Given the description of an element on the screen output the (x, y) to click on. 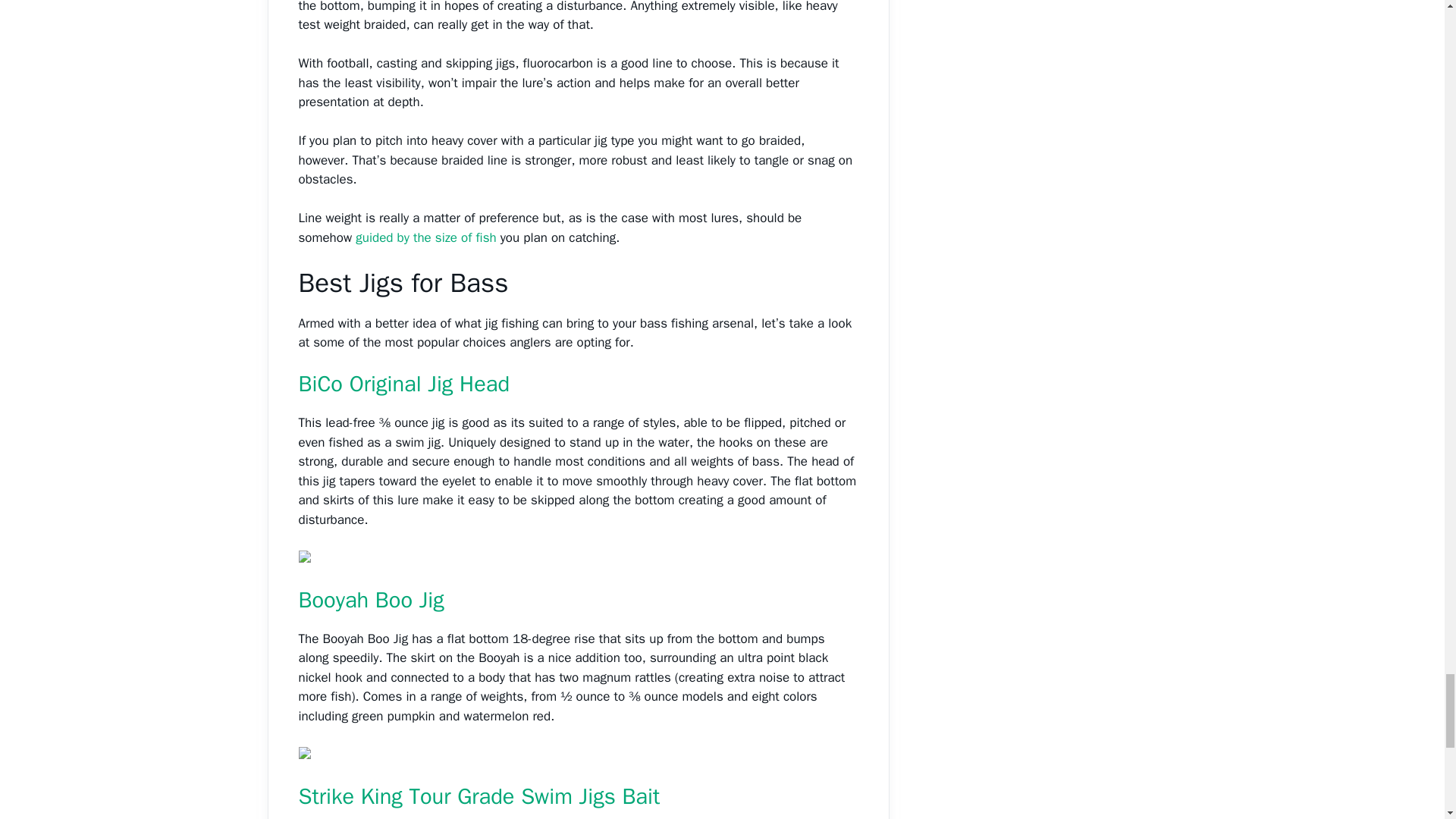
Strike King Tour Grade Swim Jigs Bait (479, 796)
Booyah Boo Jig (371, 600)
guided by the size of fish (425, 237)
BiCo Original Jig Head (404, 384)
